Given the description of an element on the screen output the (x, y) to click on. 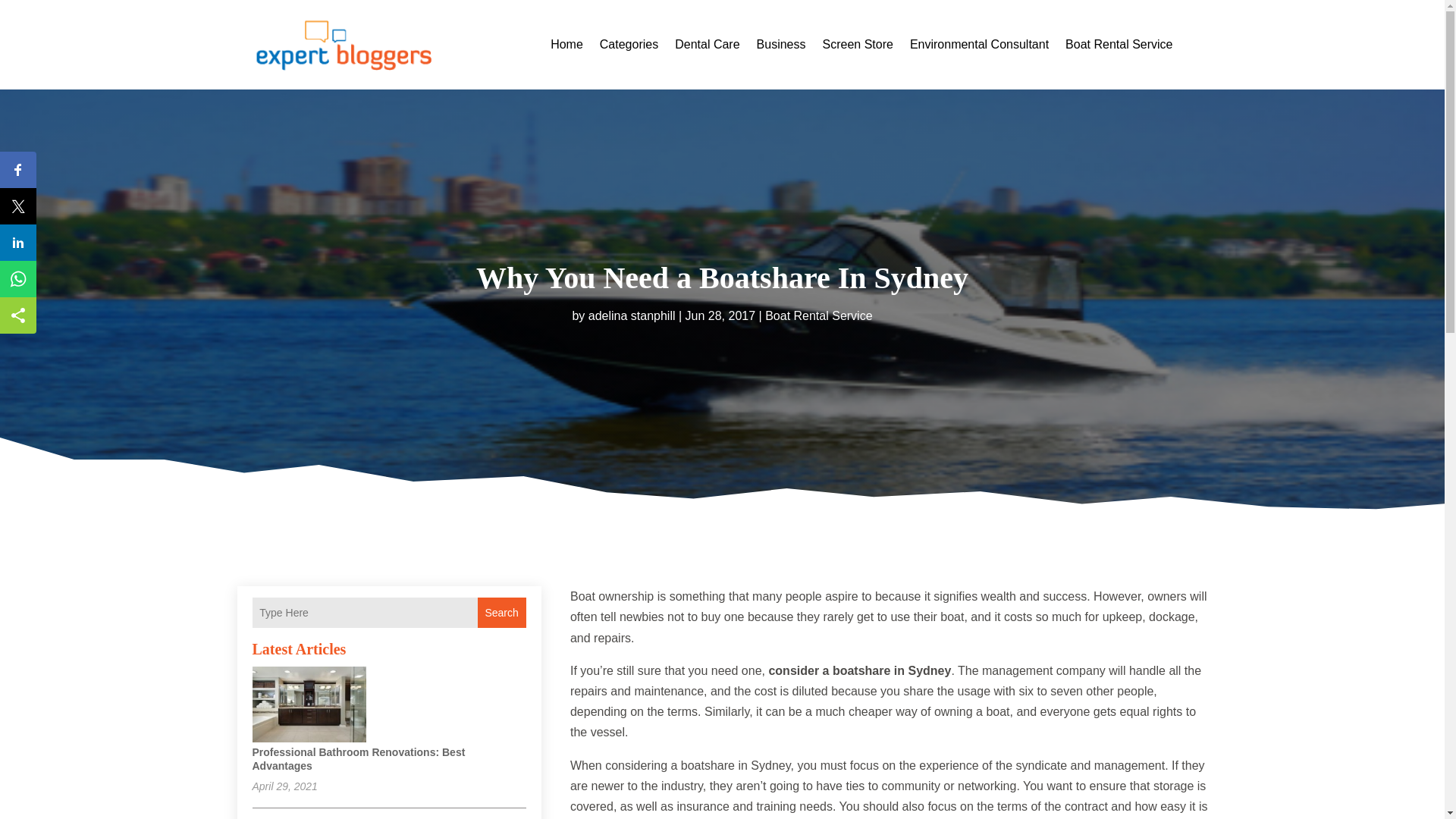
Posts by adelina stanphill (631, 315)
Boat Rental Service (818, 315)
Search (501, 612)
Dental Care (707, 44)
Screen Store (857, 44)
Environmental Consultant (979, 44)
Boat Rental Service (1118, 44)
Professional Bathroom Renovations: Best Advantages (357, 759)
adelina stanphill (631, 315)
